Given the description of an element on the screen output the (x, y) to click on. 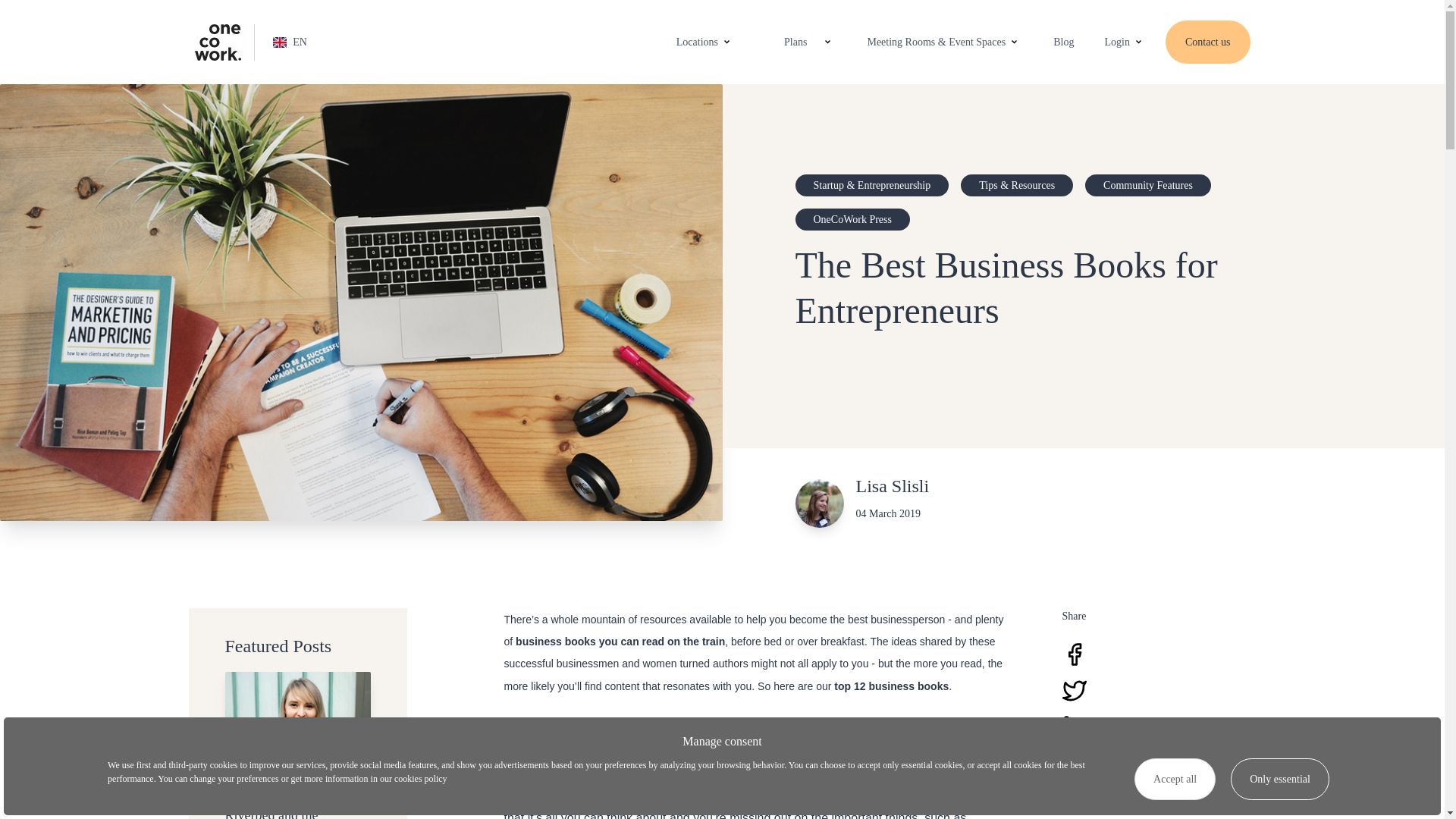
EN (274, 42)
Blog (1054, 42)
Locations (696, 42)
Login (1125, 42)
Locations (706, 42)
Contact us (1208, 41)
Login (1116, 42)
Plans (785, 42)
Plans (791, 42)
